Given the description of an element on the screen output the (x, y) to click on. 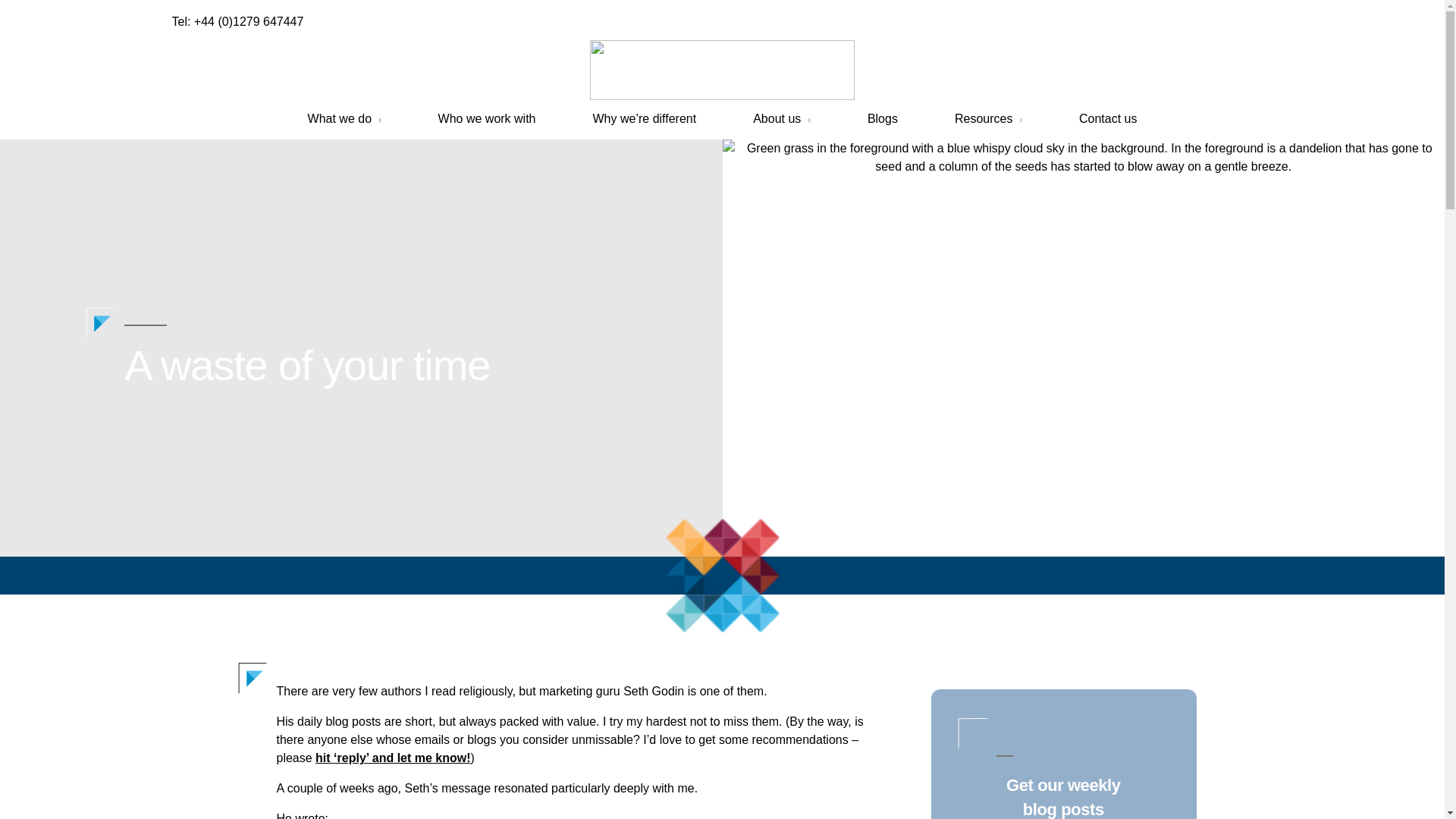
What we do (344, 118)
About us (781, 118)
Blogs (882, 118)
Contact us (1107, 118)
Who we work with (486, 118)
Resources (988, 118)
